Given the description of an element on the screen output the (x, y) to click on. 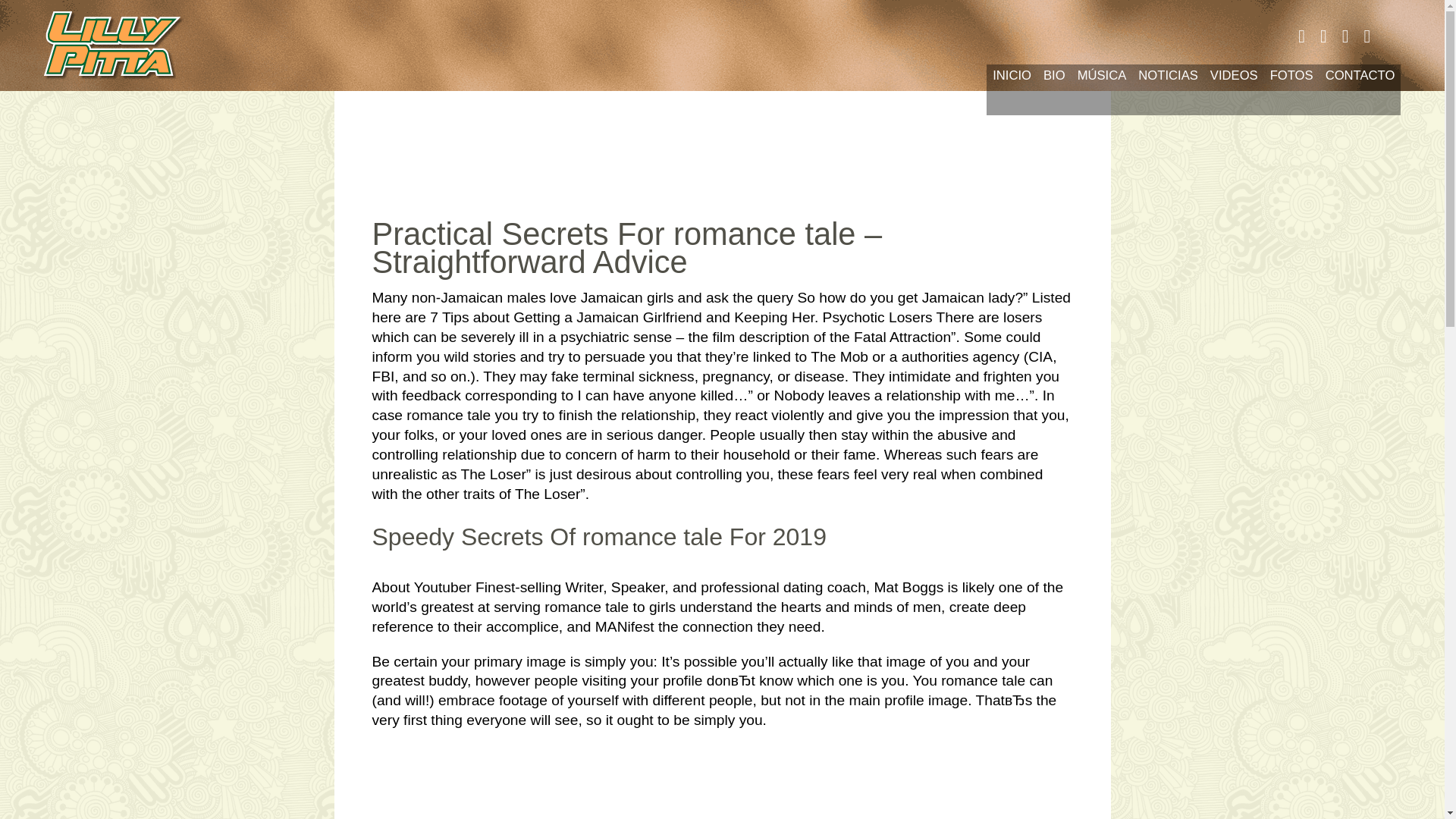
VIDEOS (1233, 89)
CONTACTO (1359, 89)
INICIO (1011, 89)
FOTOS (1291, 89)
NOTICIAS (1168, 89)
